Given the description of an element on the screen output the (x, y) to click on. 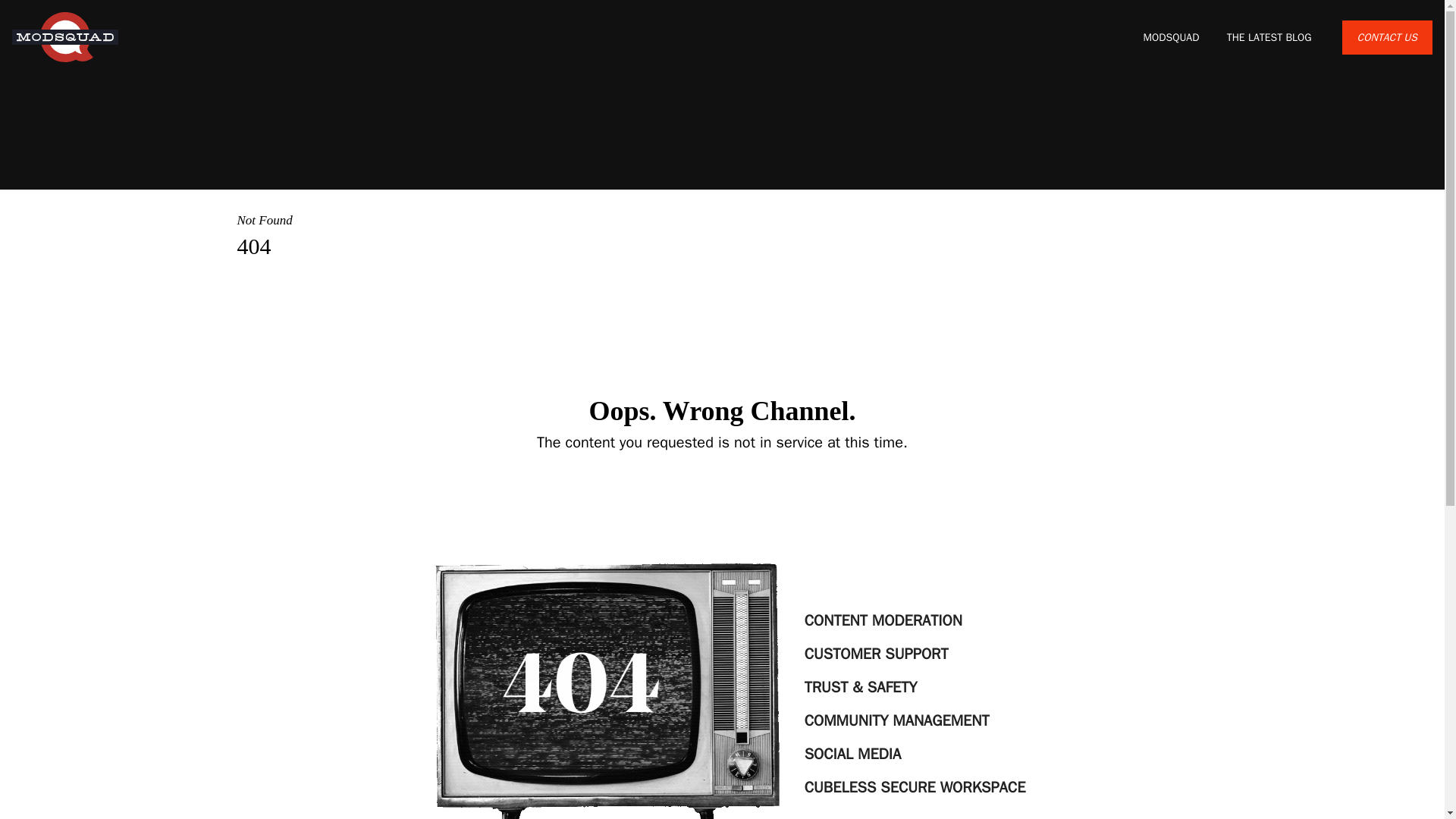
CUBELESS SECURE WORKSPACE (914, 787)
THE LATEST BLOG (1268, 37)
CUSTOMER SUPPORT (914, 654)
CONTACT US (1387, 37)
CONTENT MODERATION (914, 621)
SOCIAL MEDIA (914, 754)
COMMUNITY MANAGEMENT (914, 720)
MODSQUAD (1172, 37)
